Given the description of an element on the screen output the (x, y) to click on. 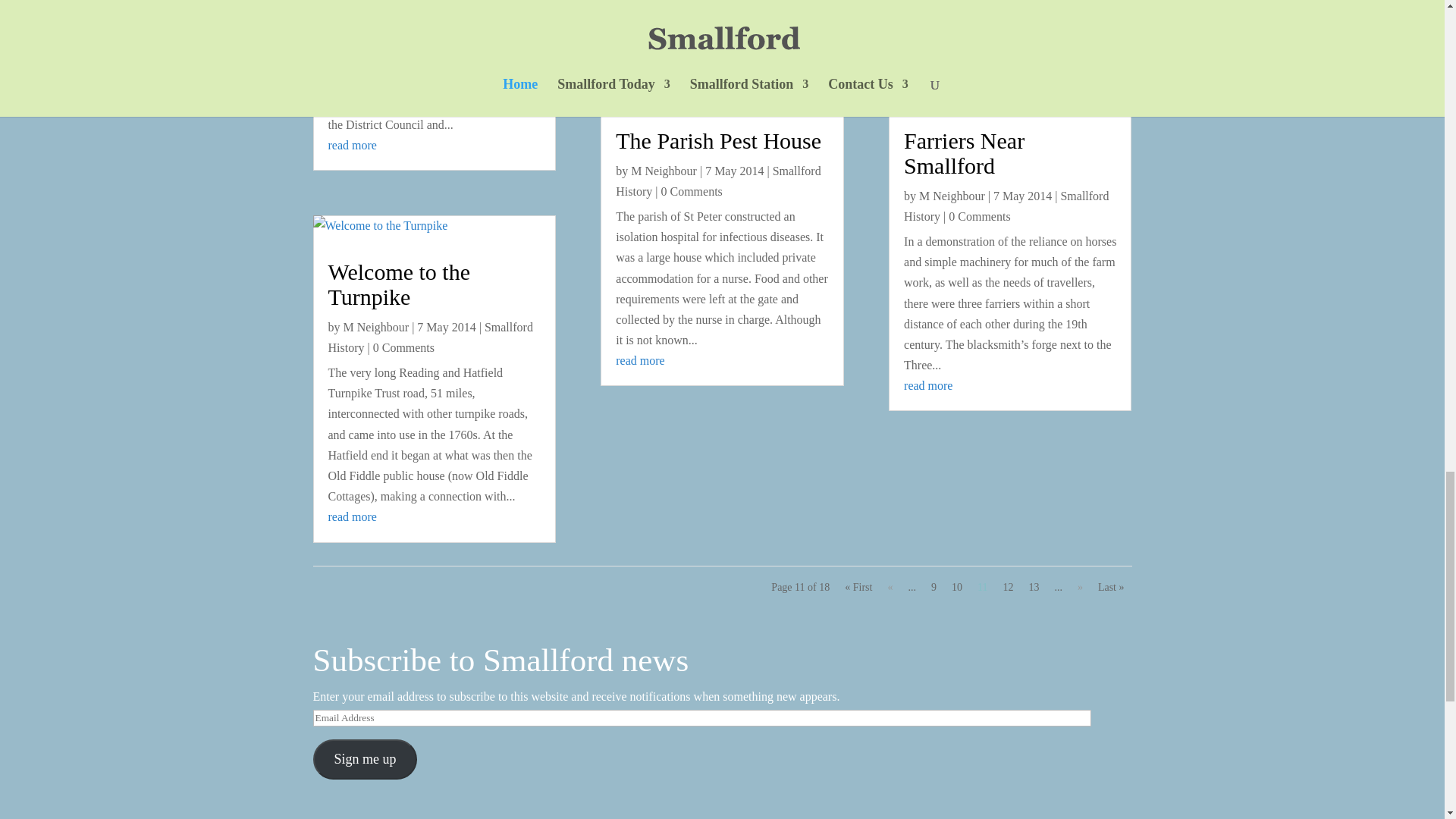
Welcome to the Turnpike (398, 284)
Posts by M Neighbour (375, 327)
The Parish Pest House (718, 140)
Posts by M Neighbour (663, 170)
Smallford History (429, 337)
M Neighbour (375, 327)
M Neighbour (663, 170)
read more (639, 13)
read more (351, 144)
read more (351, 516)
